Given the description of an element on the screen output the (x, y) to click on. 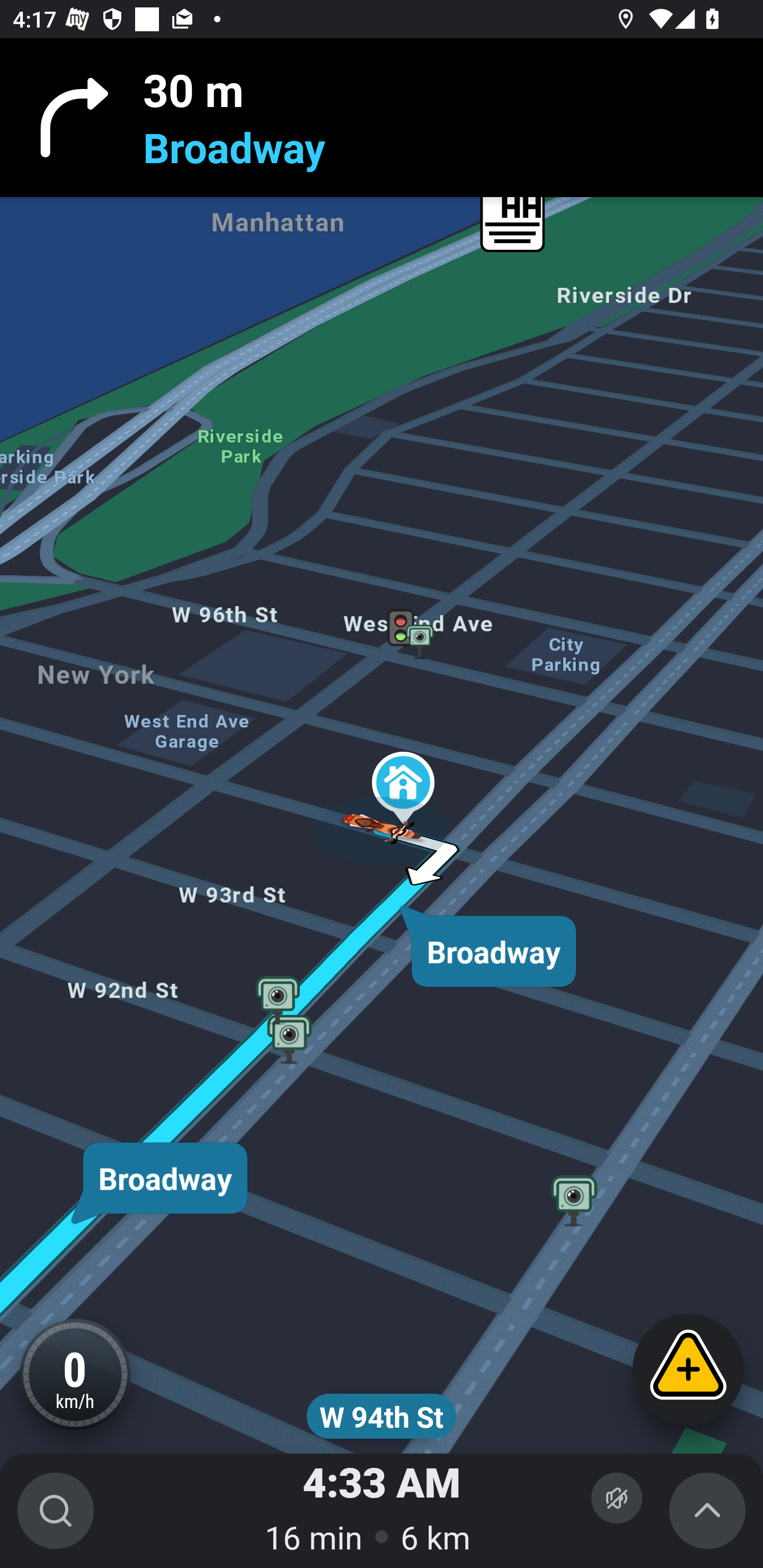
30 m Broadway (381, 117)
4:33 AM 16 min 6 km (381, 1510)
